Given the description of an element on the screen output the (x, y) to click on. 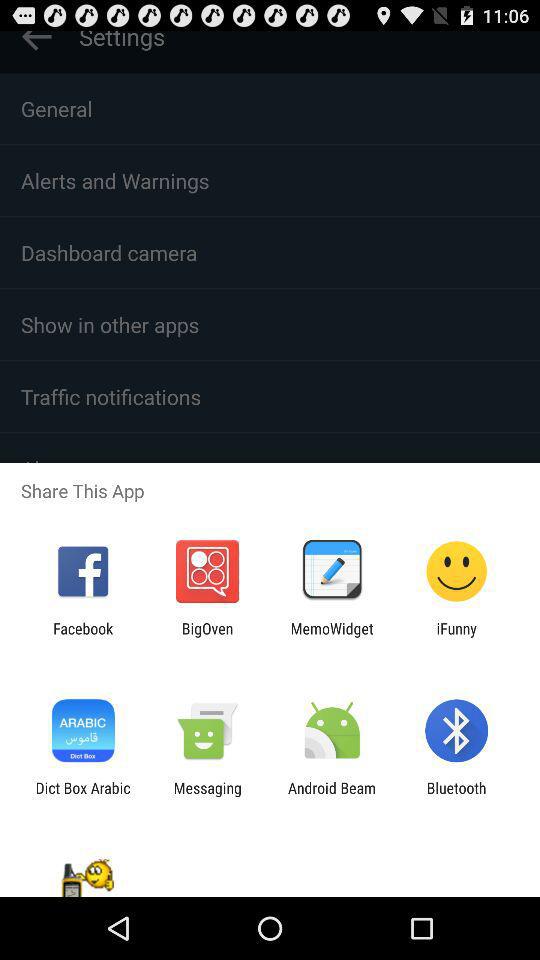
launch item to the right of the memowidget app (456, 637)
